Given the description of an element on the screen output the (x, y) to click on. 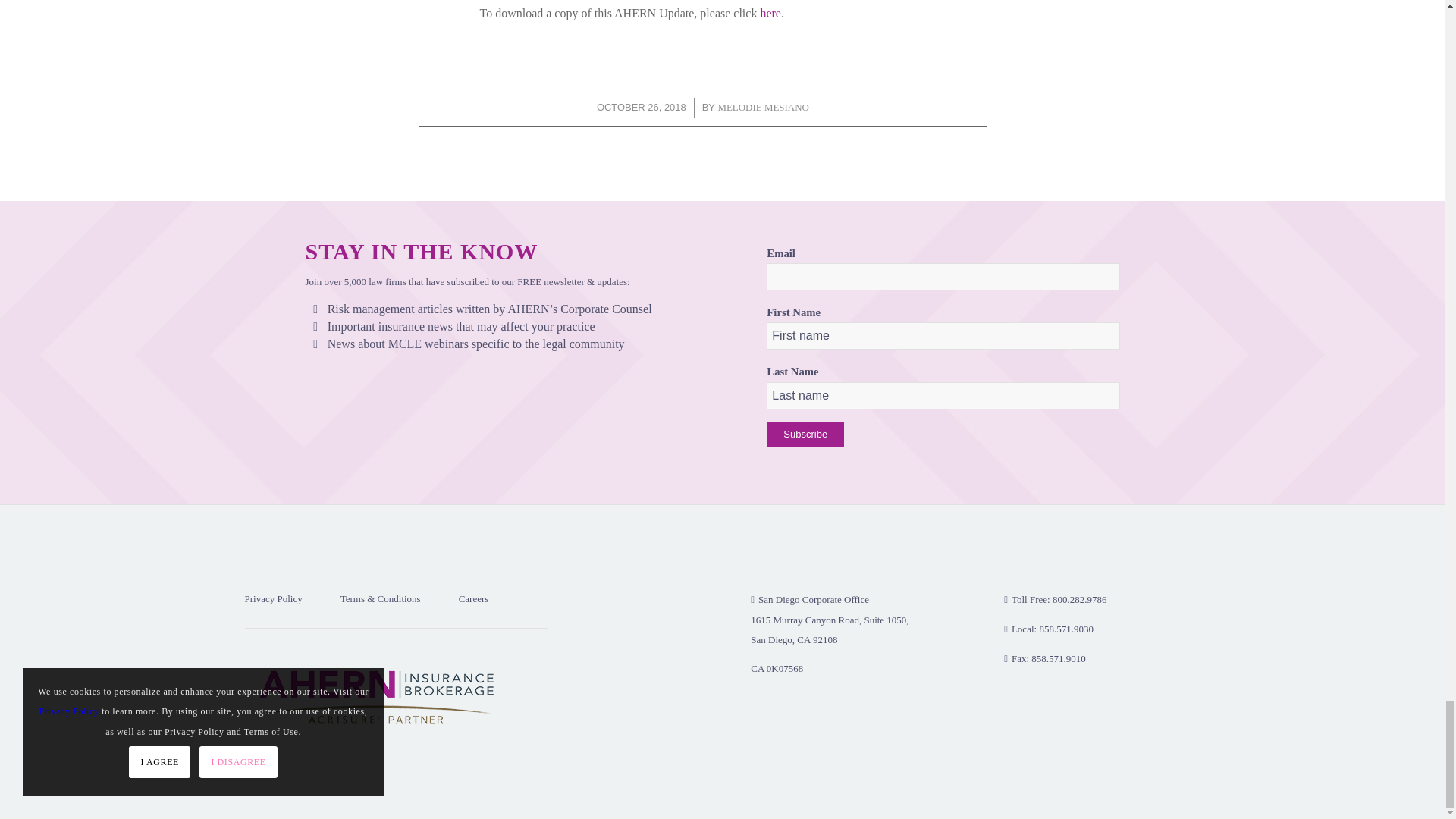
Local: 858.571.9030 (1048, 628)
MELODIE MESIANO (763, 107)
Careers (492, 598)
Privacy Policy (291, 598)
Subscribe (805, 433)
Toll Free: 800.282.9786 (1055, 599)
here (770, 12)
Subscribe (805, 433)
Sitemap (260, 761)
